Given the description of an element on the screen output the (x, y) to click on. 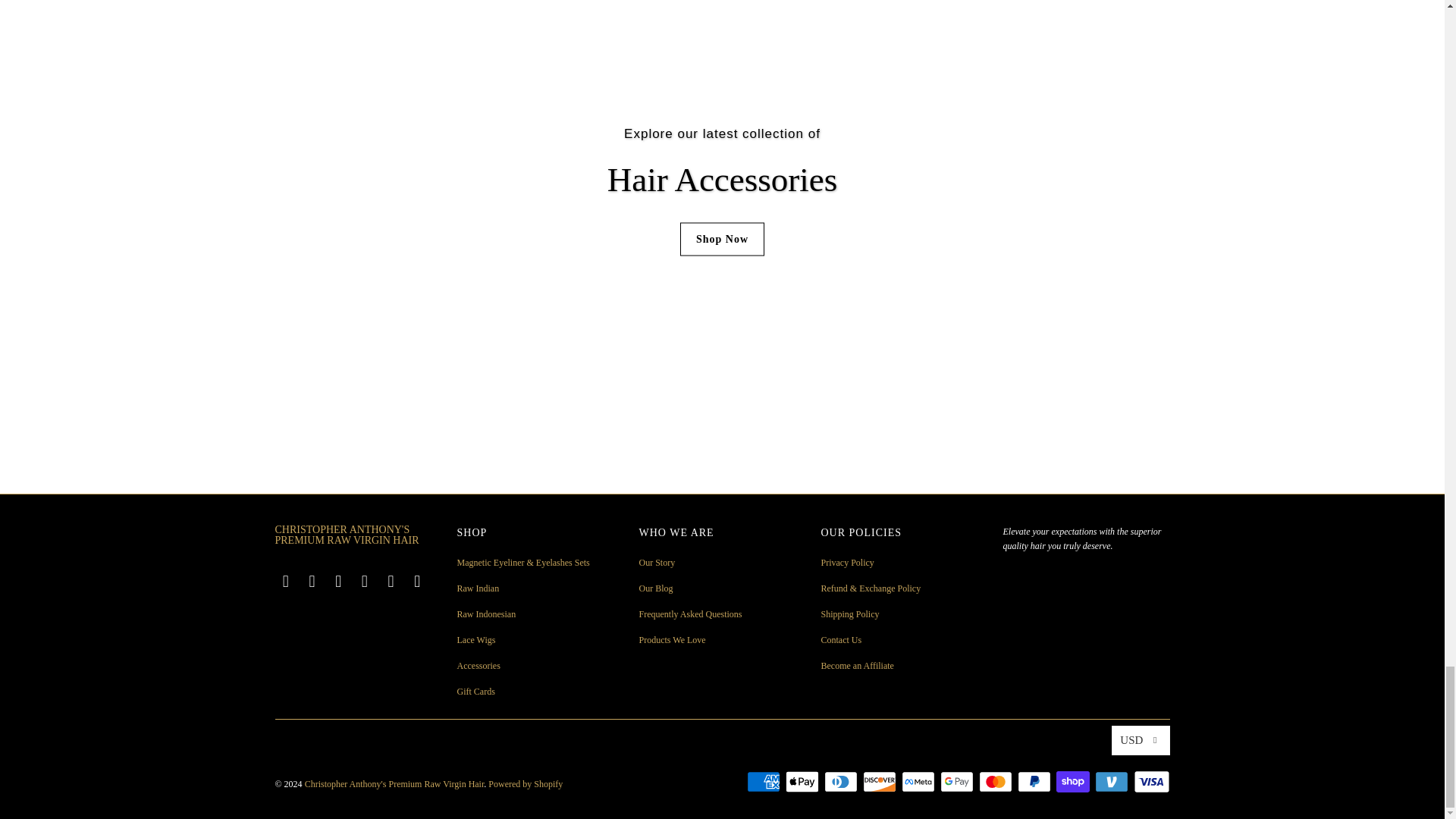
Diners Club (842, 781)
Email Christopher Anthony's Premium Raw Virgin Hair (286, 581)
Christopher Anthony's Premium Raw Virgin Hair on Pinterest (365, 581)
Discover (881, 781)
Visa (1150, 781)
Shop Pay (1073, 781)
Venmo (1112, 781)
Christopher Anthony's Premium Raw Virgin Hair on Facebook (312, 581)
Christopher Anthony's Premium Raw Virgin Hair on Instagram (338, 581)
PayPal (1035, 781)
